Given the description of an element on the screen output the (x, y) to click on. 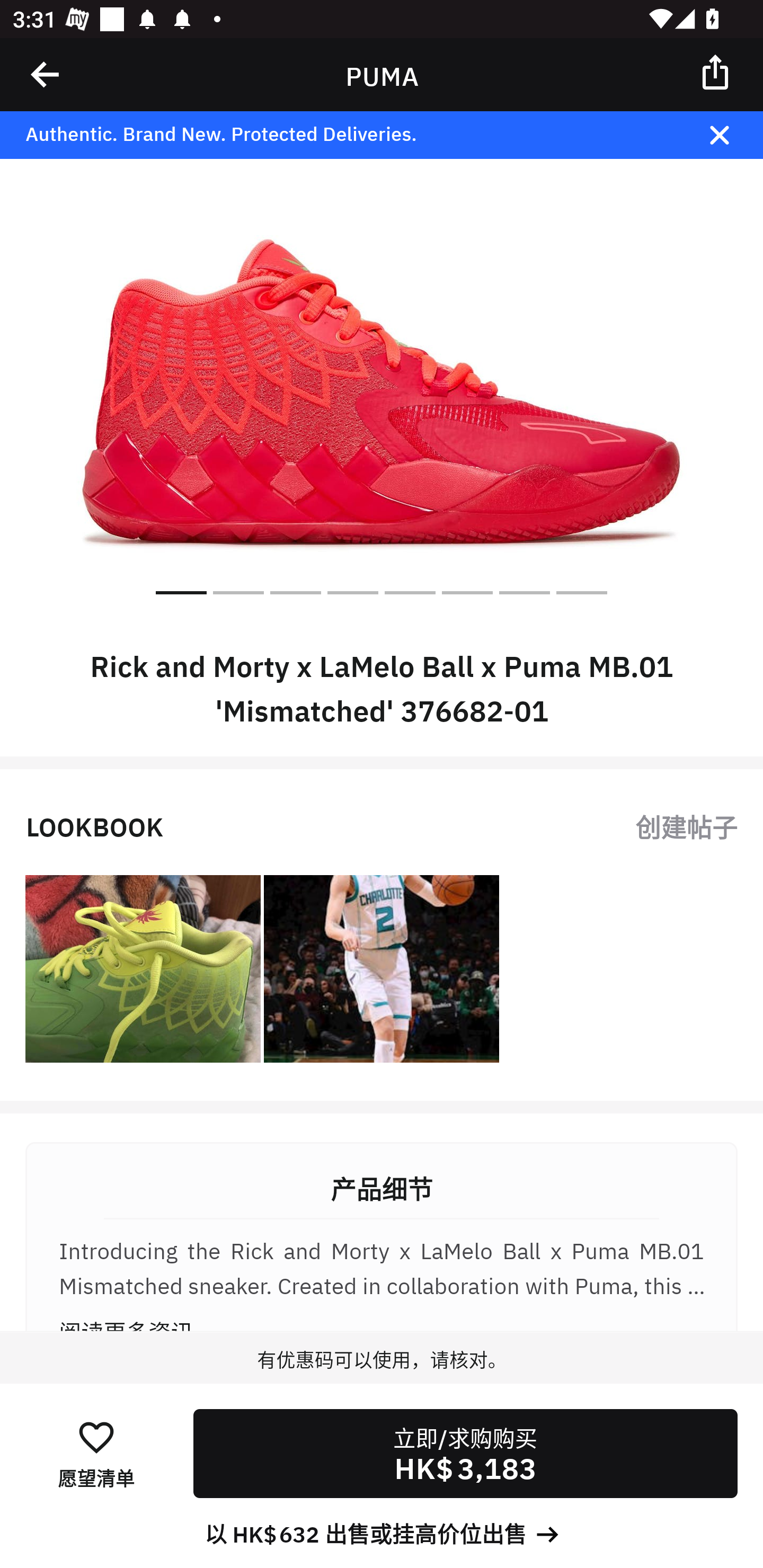
 (46, 74)
 (716, 70)
Authentic. Brand New. Protected Deliveries. (350, 134)
 (732, 134)
创建帖子 (685, 825)
有优惠码可以使用，请核对。 (381, 1377)
立即/求购购买 HK$ 3,183 (465, 1453)
󰋕 (95, 1435)
以 HK$ 632 出售或挂高价位出售 (381, 1532)
